Given the description of an element on the screen output the (x, y) to click on. 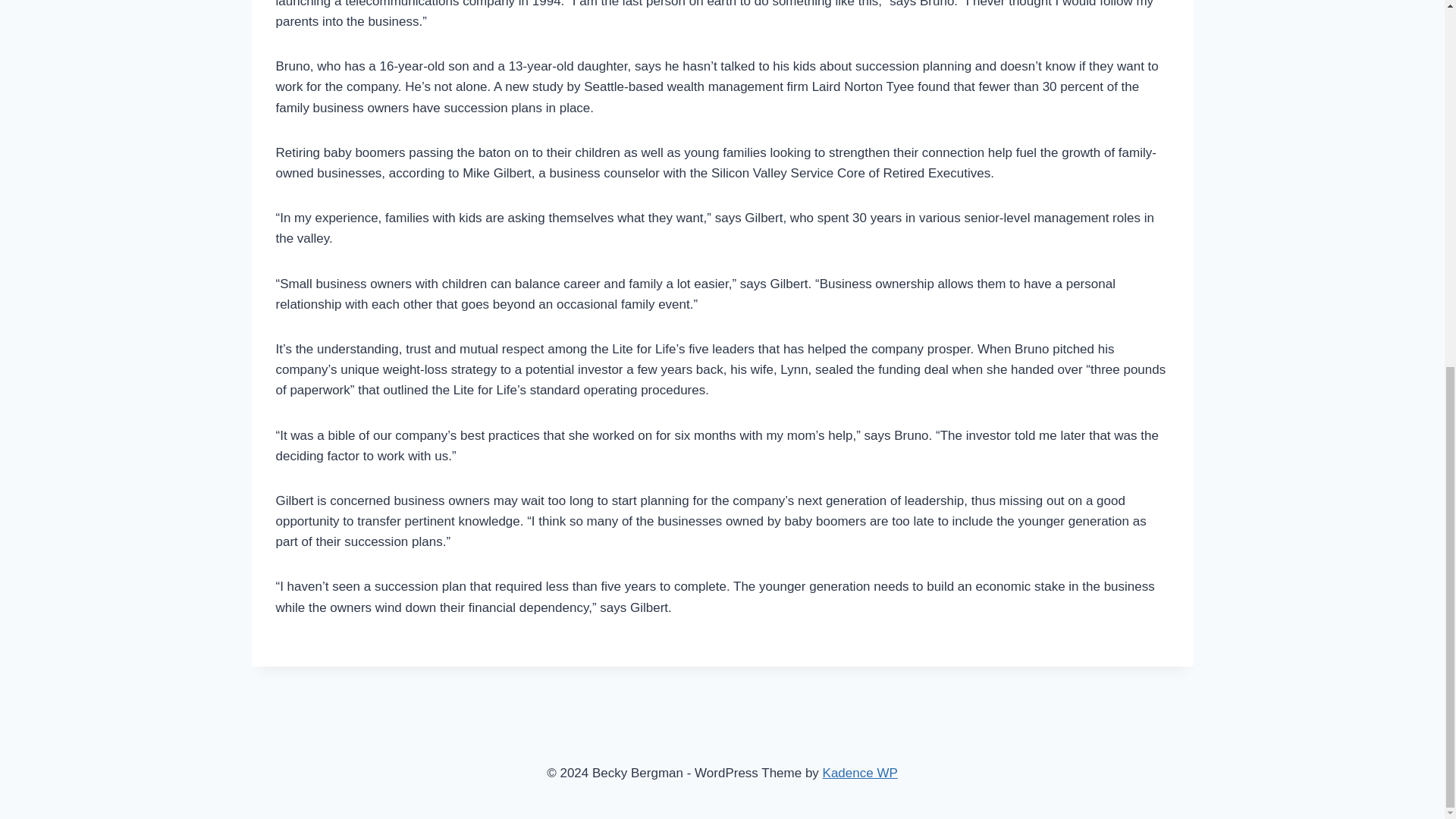
Kadence WP (860, 772)
